Given the description of an element on the screen output the (x, y) to click on. 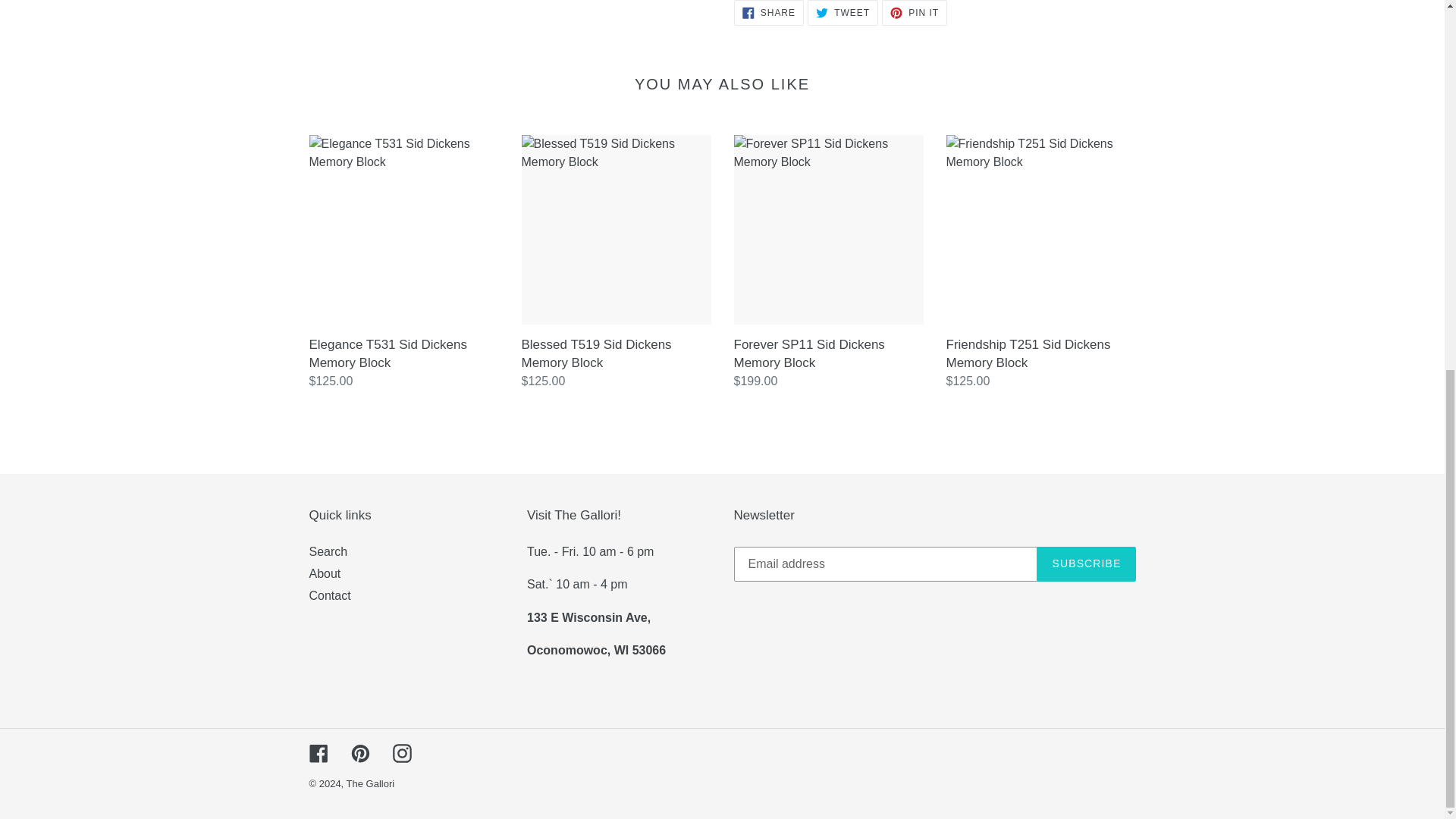
Pinterest (359, 752)
Facebook (914, 12)
About (318, 752)
SUBSCRIBE (842, 12)
Contact (324, 573)
Instagram (1085, 564)
Search (768, 12)
